Given the description of an element on the screen output the (x, y) to click on. 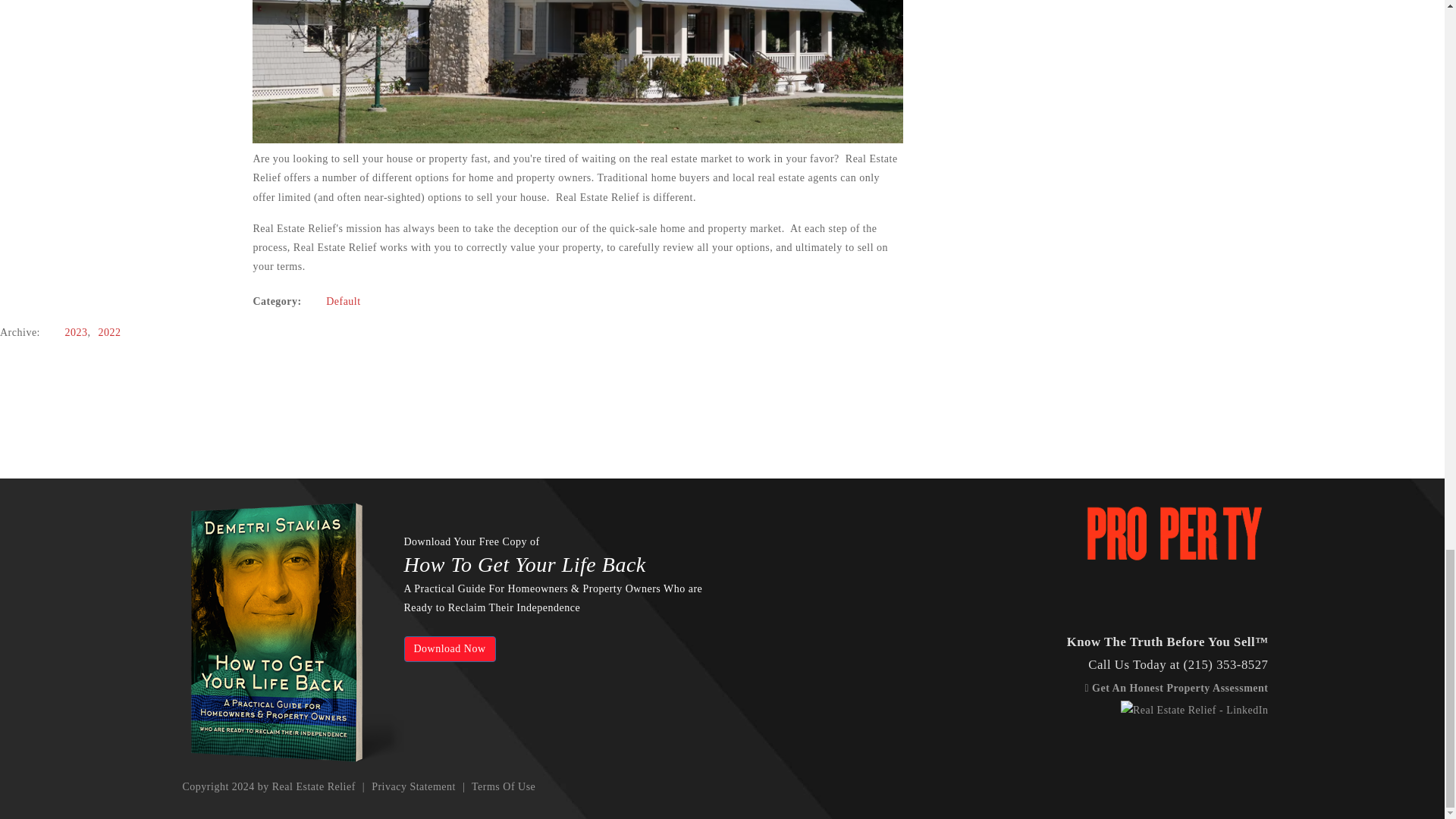
2023 (75, 332)
Default (342, 301)
